Given the description of an element on the screen output the (x, y) to click on. 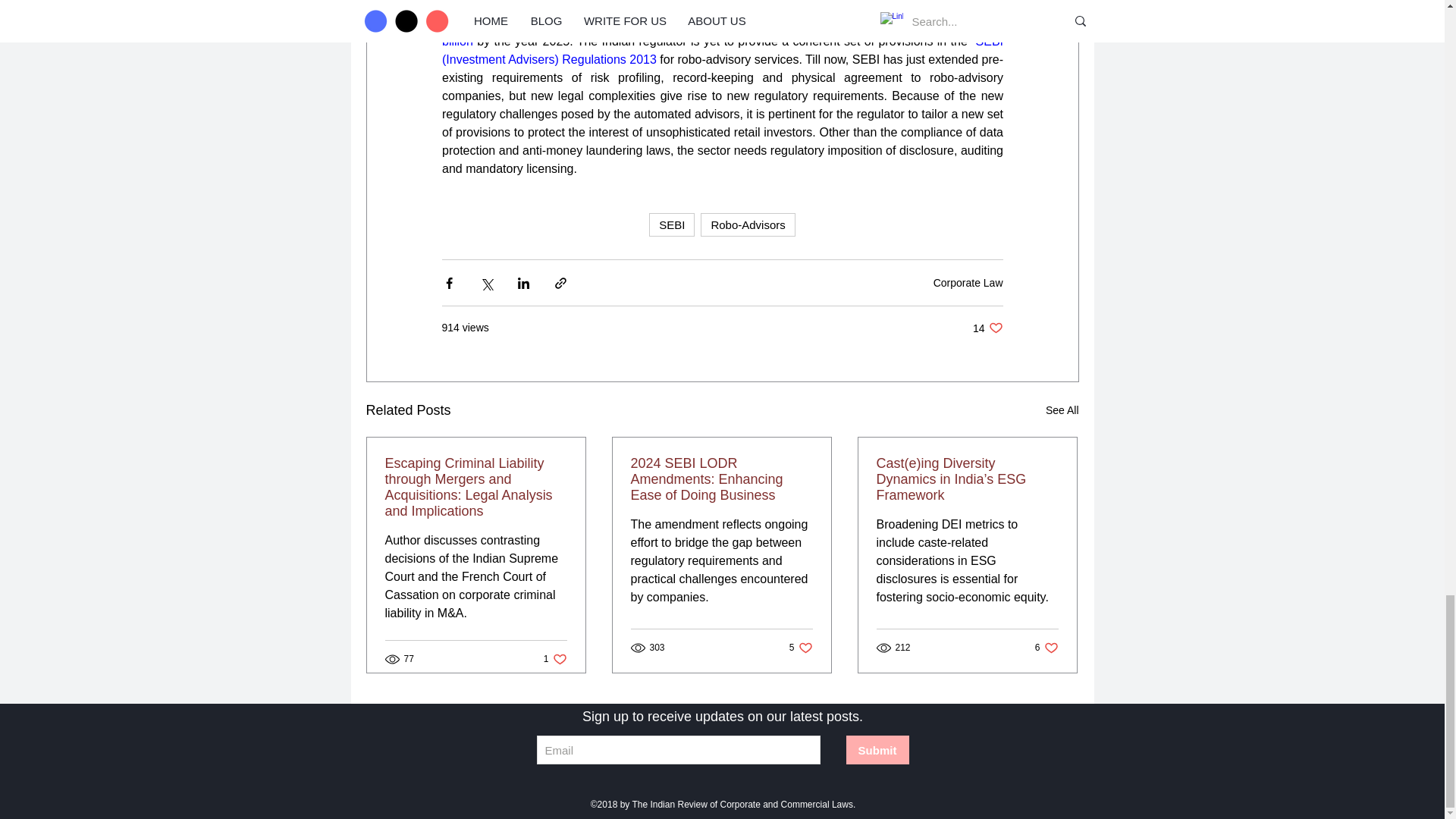
Robo-Advisors (987, 327)
Corporate Law (747, 224)
SEBI (968, 282)
